Given the description of an element on the screen output the (x, y) to click on. 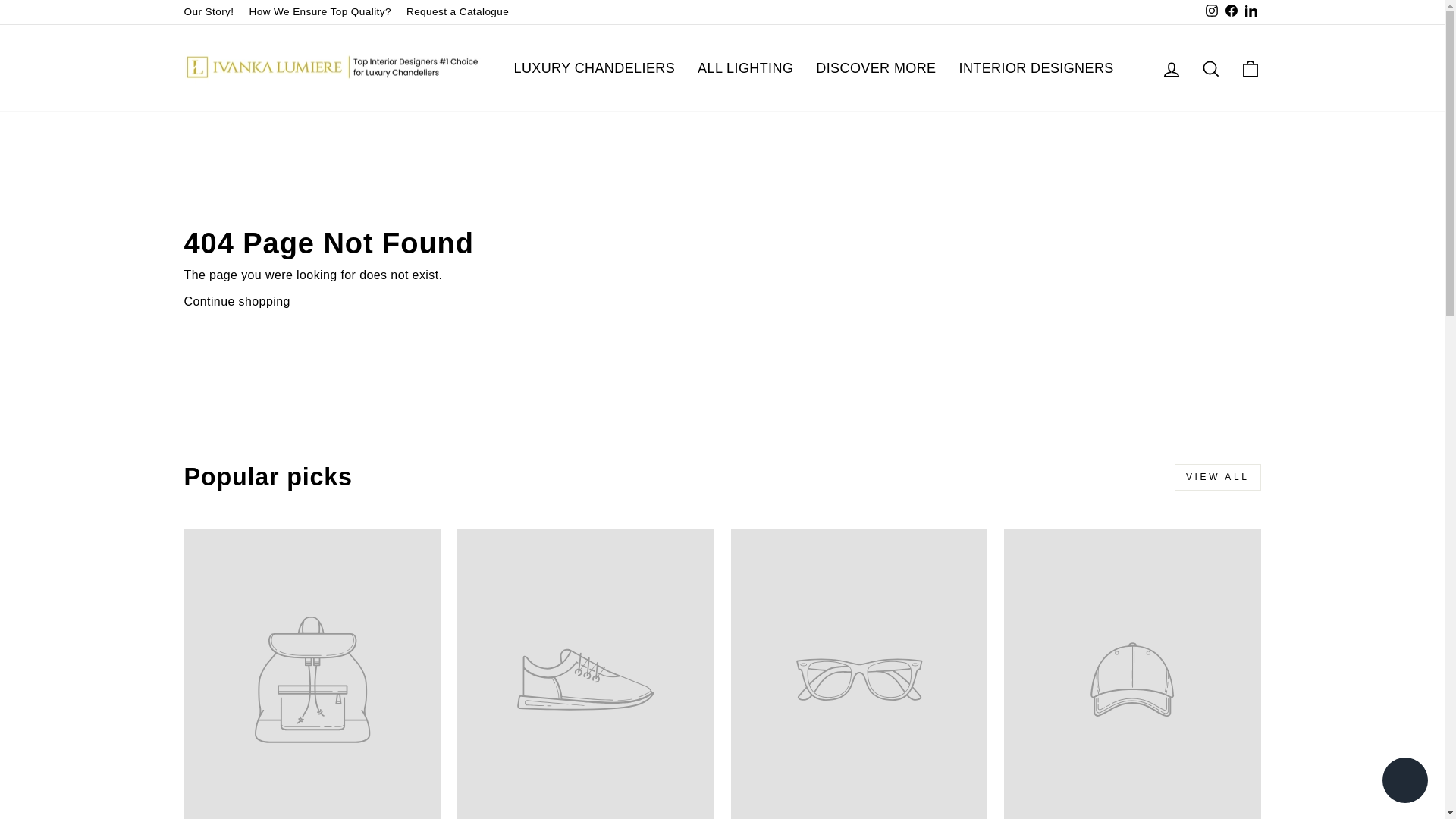
How We Ensure Top Quality? (319, 12)
LUXURY CHANDELIERS (593, 68)
Request a Catalogue (457, 12)
Our Story! (208, 12)
Shopify online store chat (1404, 781)
